Given the description of an element on the screen output the (x, y) to click on. 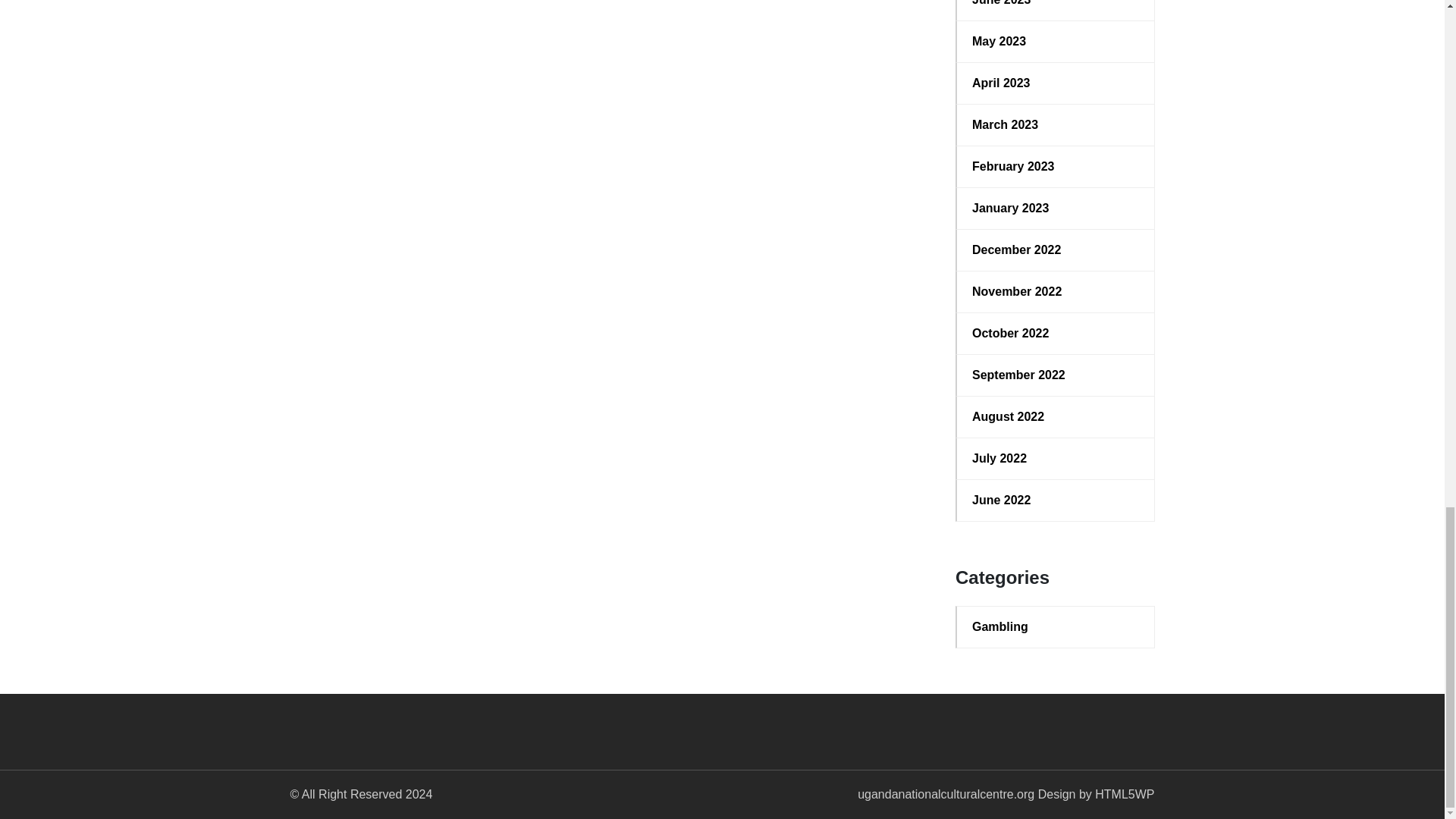
April 2023 (1055, 83)
January 2023 (1055, 208)
June 2023 (1055, 4)
July 2022 (1055, 458)
December 2022 (1055, 249)
September 2022 (1055, 375)
May 2023 (1055, 41)
October 2022 (1055, 333)
August 2022 (1055, 416)
November 2022 (1055, 291)
